Given the description of an element on the screen output the (x, y) to click on. 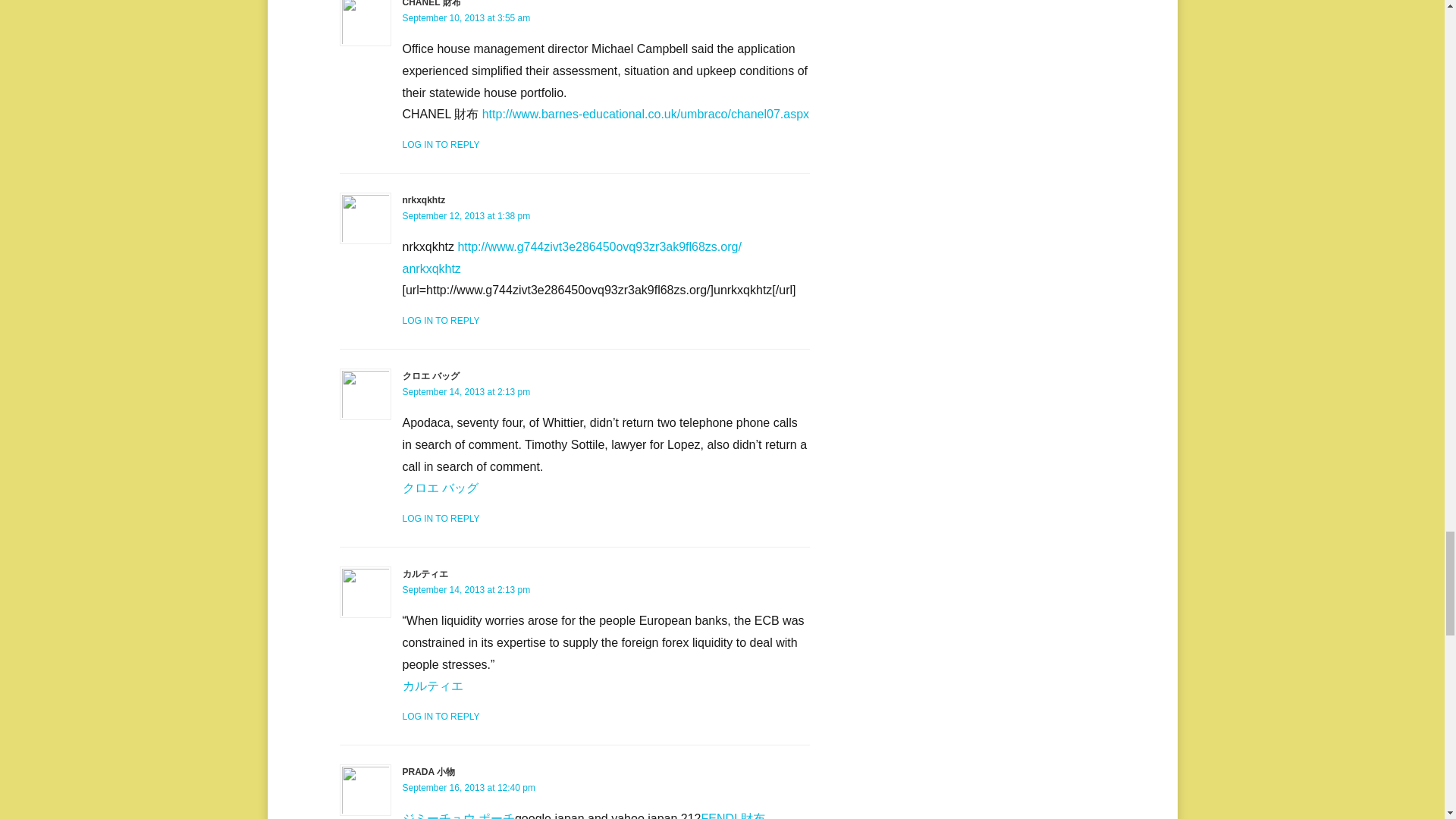
September 14, 2013 at 2:13 pm (465, 391)
LOG IN TO REPLY (440, 144)
September 14, 2013 at 2:13 pm (465, 589)
September 16, 2013 at 12:40 pm (467, 787)
September 10, 2013 at 3:55 am (465, 18)
LOG IN TO REPLY (440, 320)
September 12, 2013 at 1:38 pm (465, 215)
anrkxqkhtz (430, 268)
LOG IN TO REPLY (440, 716)
nrkxqkhtz (423, 199)
